Given the description of an element on the screen output the (x, y) to click on. 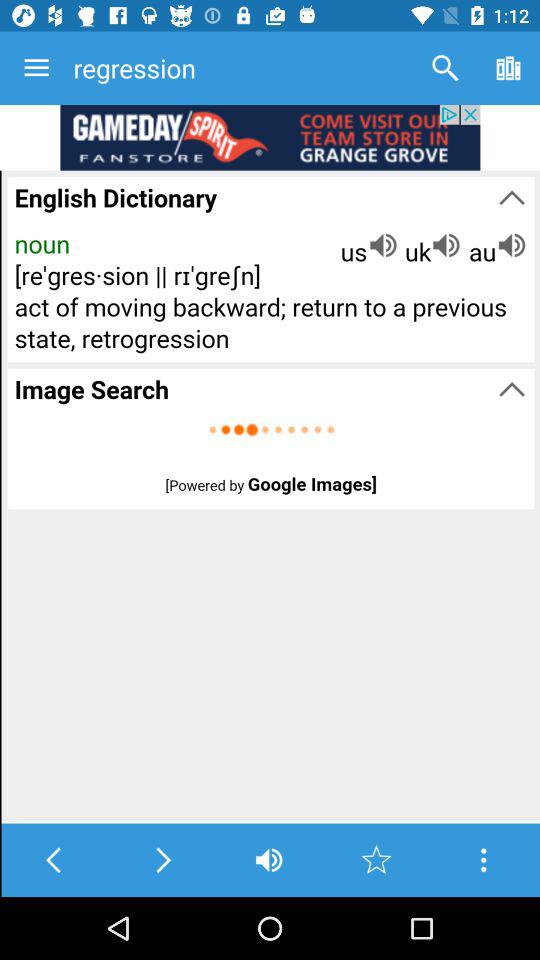
go to volume settings (268, 859)
